Given the description of an element on the screen output the (x, y) to click on. 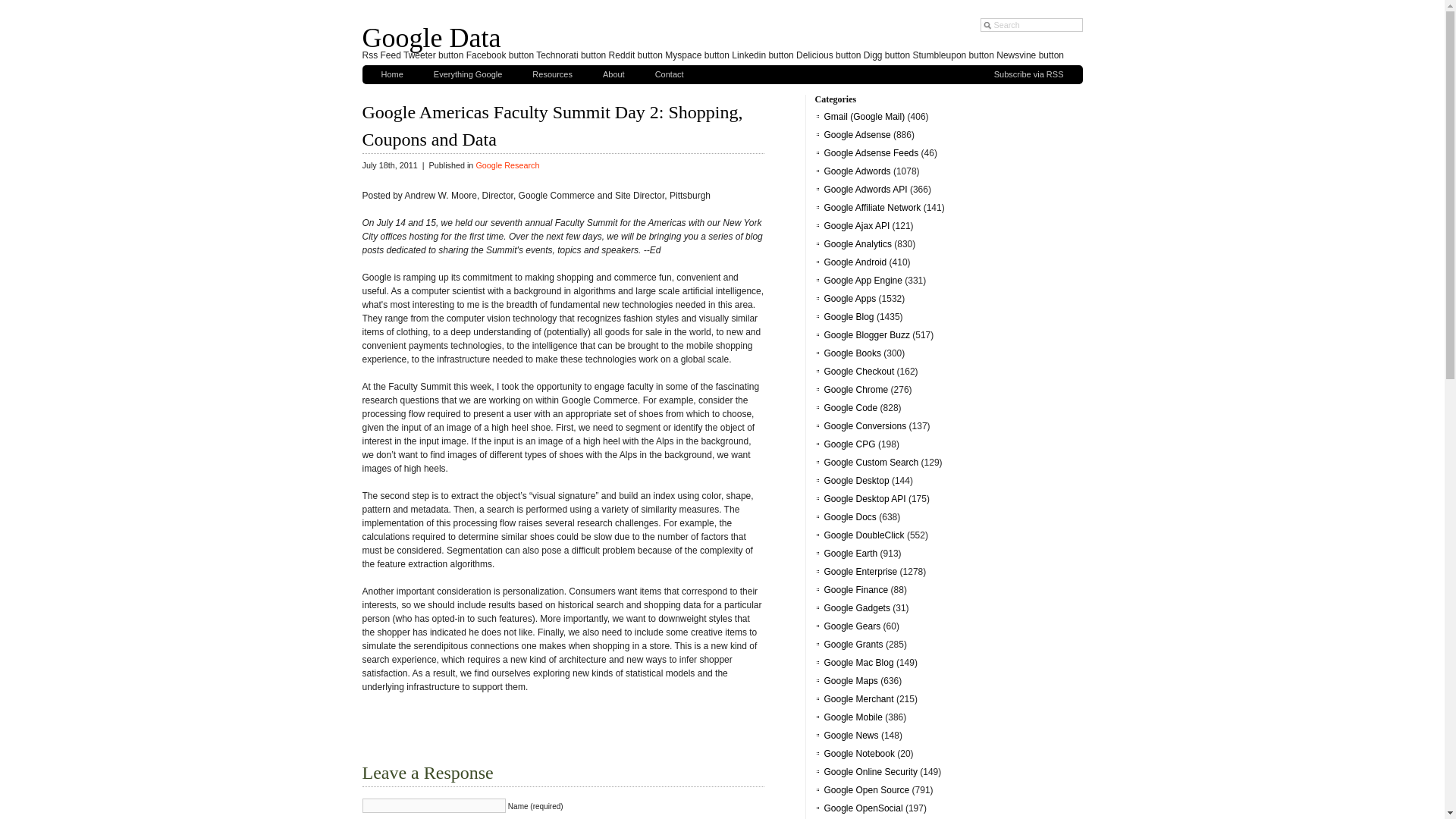
Google Data (431, 37)
Everything Google (468, 74)
Search (1030, 24)
Google Data (431, 37)
Home (391, 74)
